Given the description of an element on the screen output the (x, y) to click on. 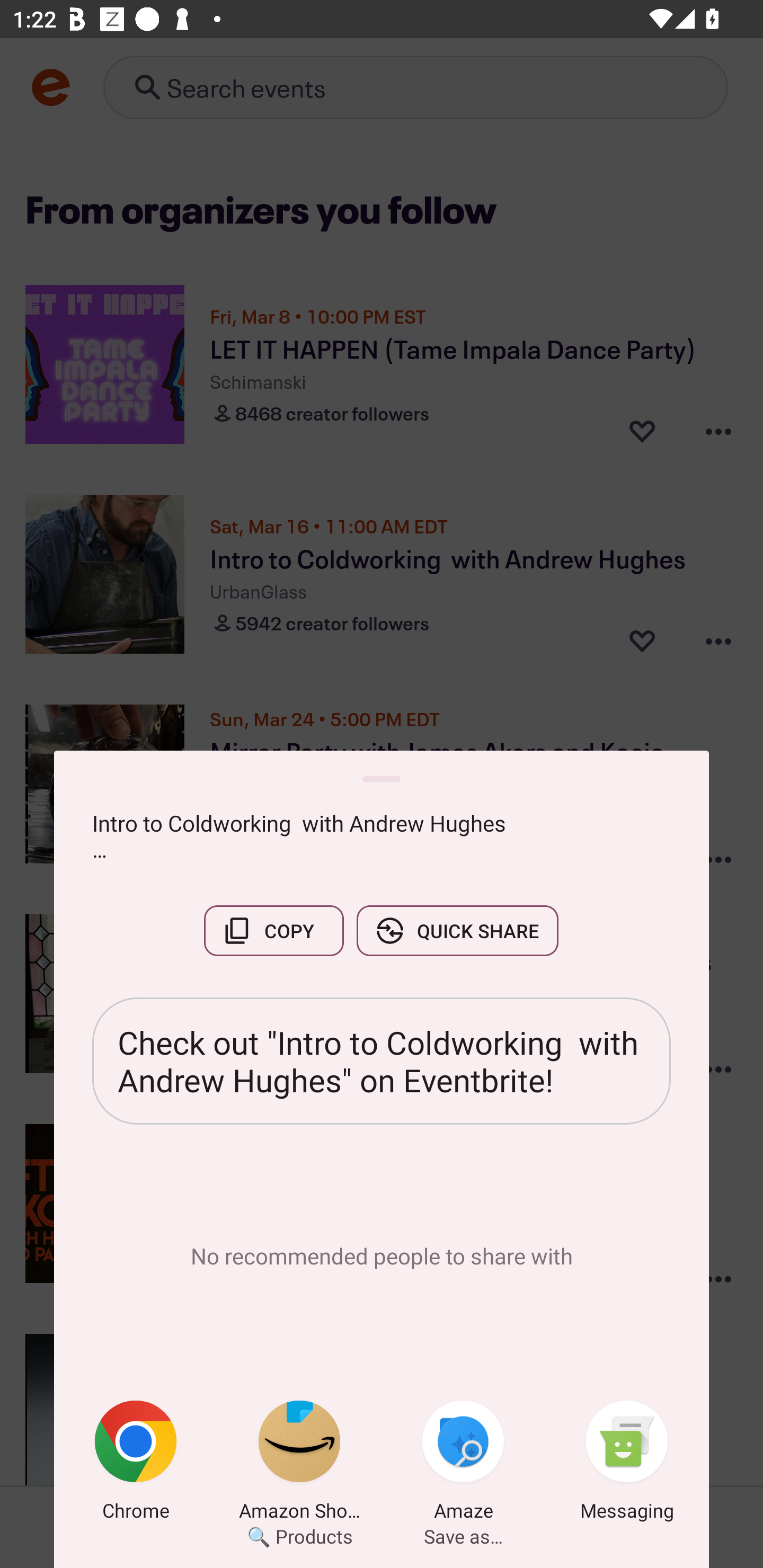
COPY (273, 930)
QUICK SHARE (457, 930)
Chrome (135, 1463)
Amazon Shopping 🔍 Products (299, 1463)
Amaze Save as… (463, 1463)
Messaging (626, 1463)
